Given the description of an element on the screen output the (x, y) to click on. 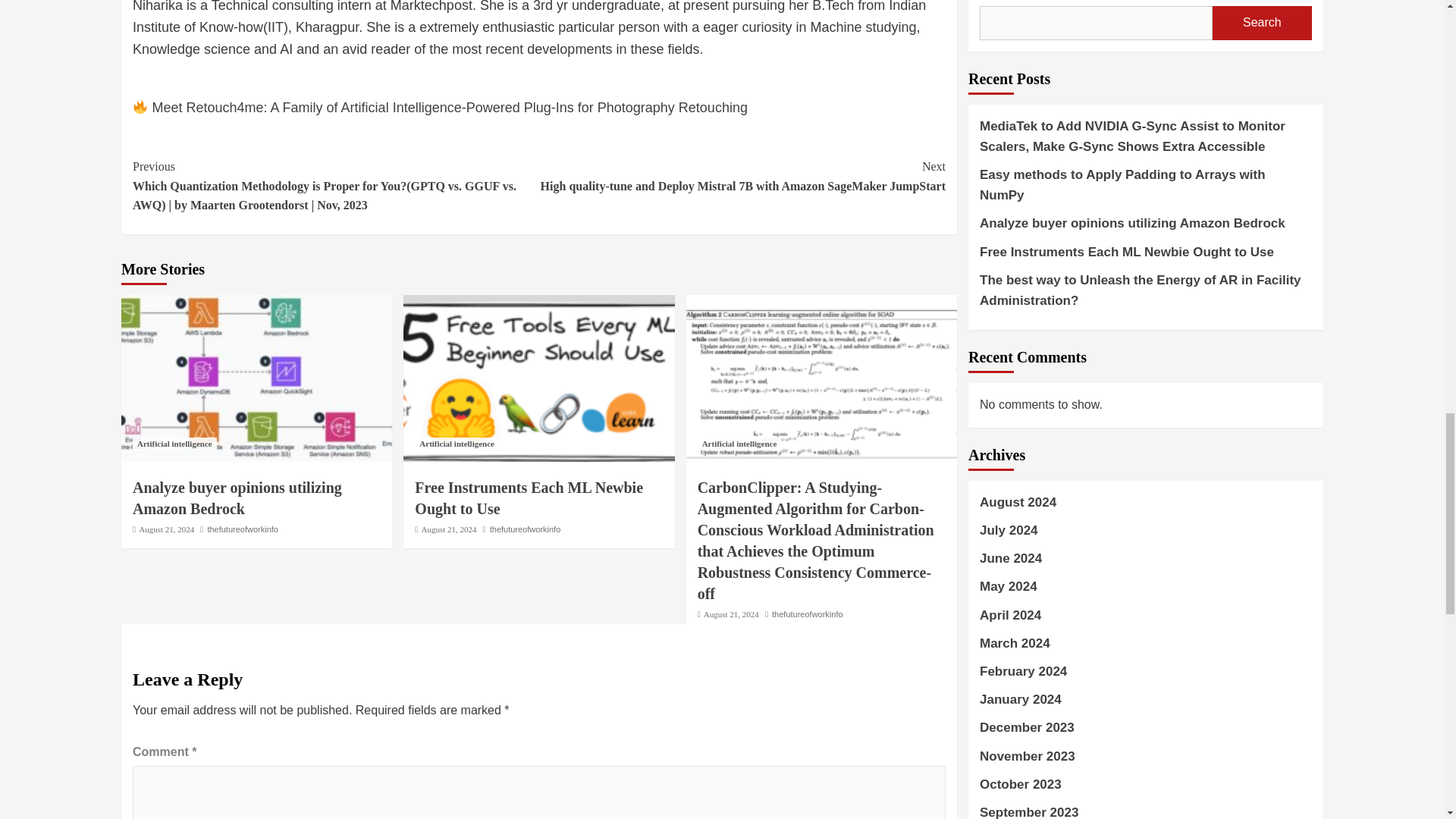
August 21, 2024 (449, 528)
Artificial intelligence (739, 443)
Free Instruments Each ML Newbie Ought to Use (528, 497)
thefutureofworkinfo (524, 528)
Artificial intelligence (174, 443)
Artificial intelligence (456, 443)
Analyze buyer opinions utilizing Amazon Bedrock (237, 497)
